Given the description of an element on the screen output the (x, y) to click on. 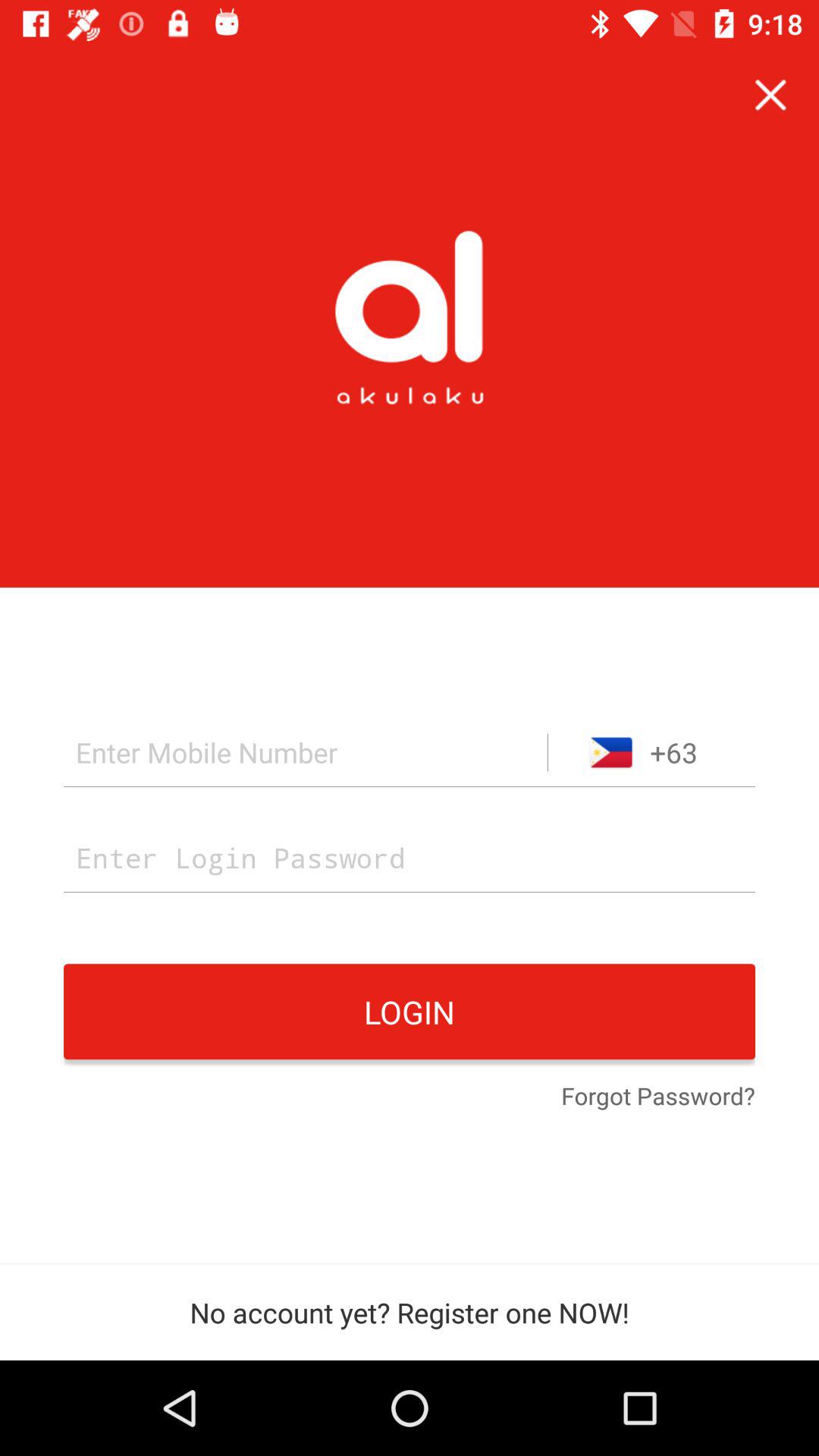
enter your password (409, 857)
